Given the description of an element on the screen output the (x, y) to click on. 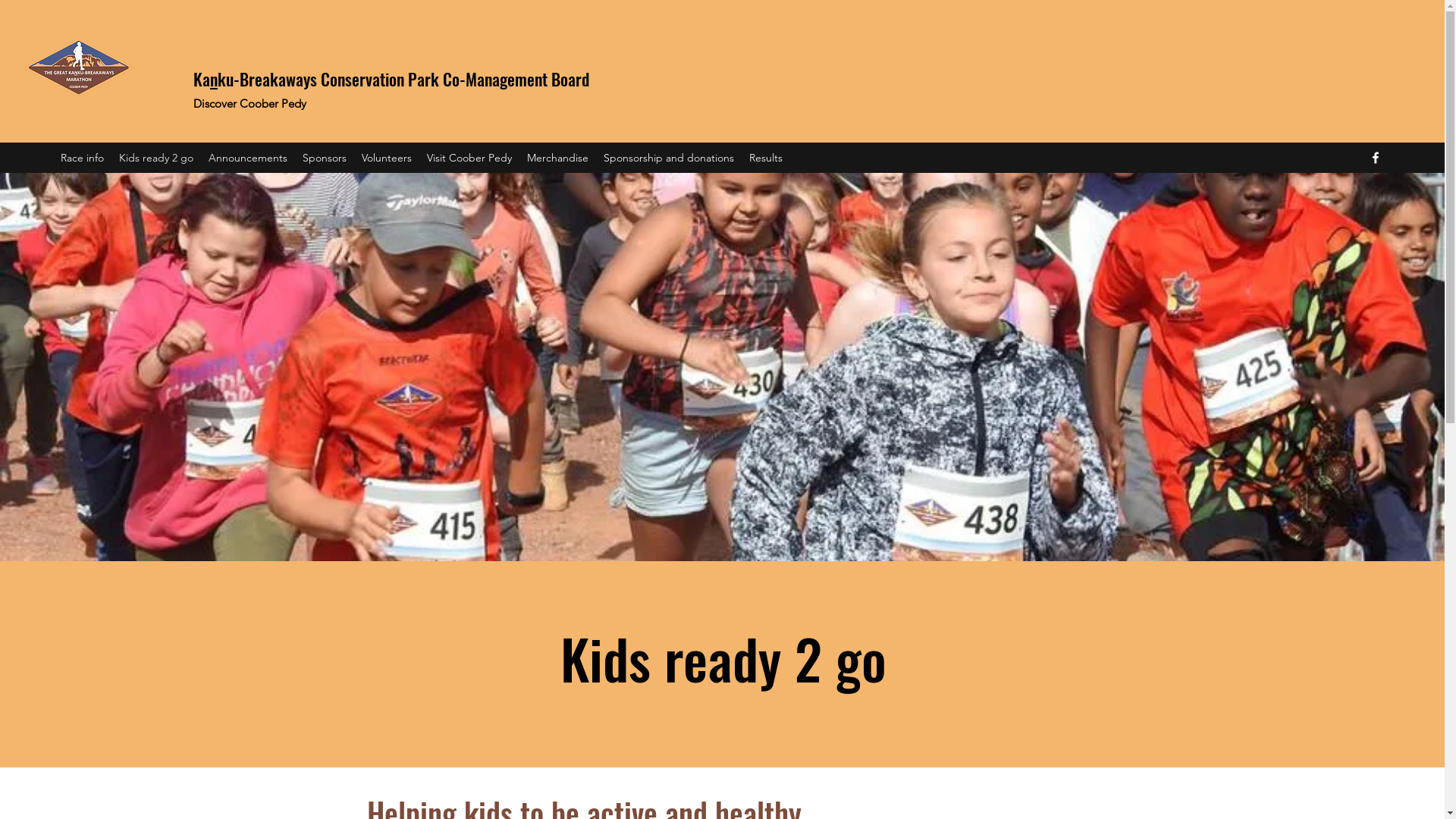
Kids ready 2 go Element type: text (155, 157)
Volunteers Element type: text (386, 157)
Sponsors Element type: text (324, 157)
Results Element type: text (765, 157)
Visit Coober Pedy Element type: text (469, 157)
Merchandise Element type: text (557, 157)
Sponsorship and donations Element type: text (668, 157)
Announcements Element type: text (247, 157)
Race info Element type: text (82, 157)
